Given the description of an element on the screen output the (x, y) to click on. 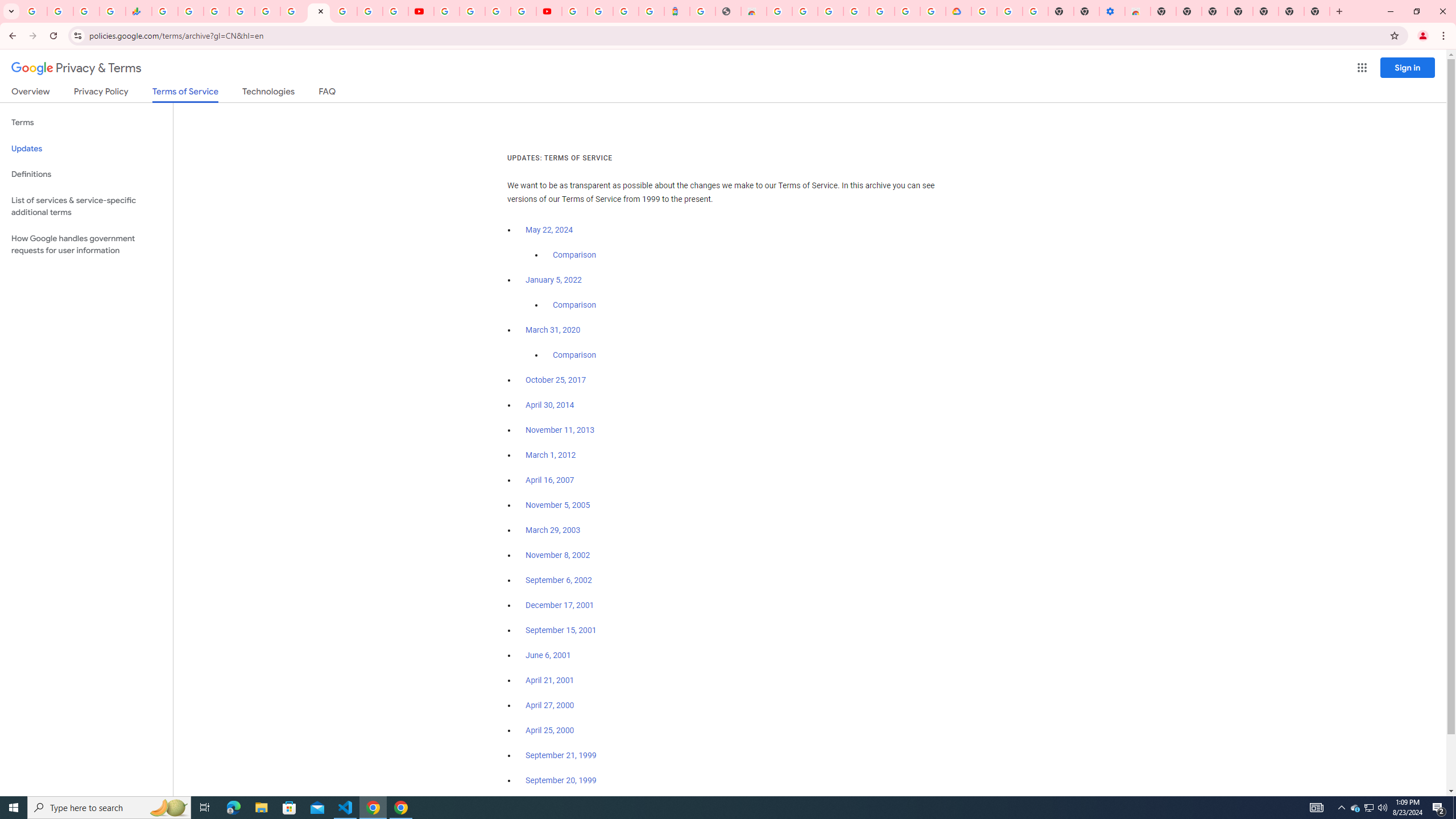
Settings - Accessibility (1111, 11)
